Given the description of an element on the screen output the (x, y) to click on. 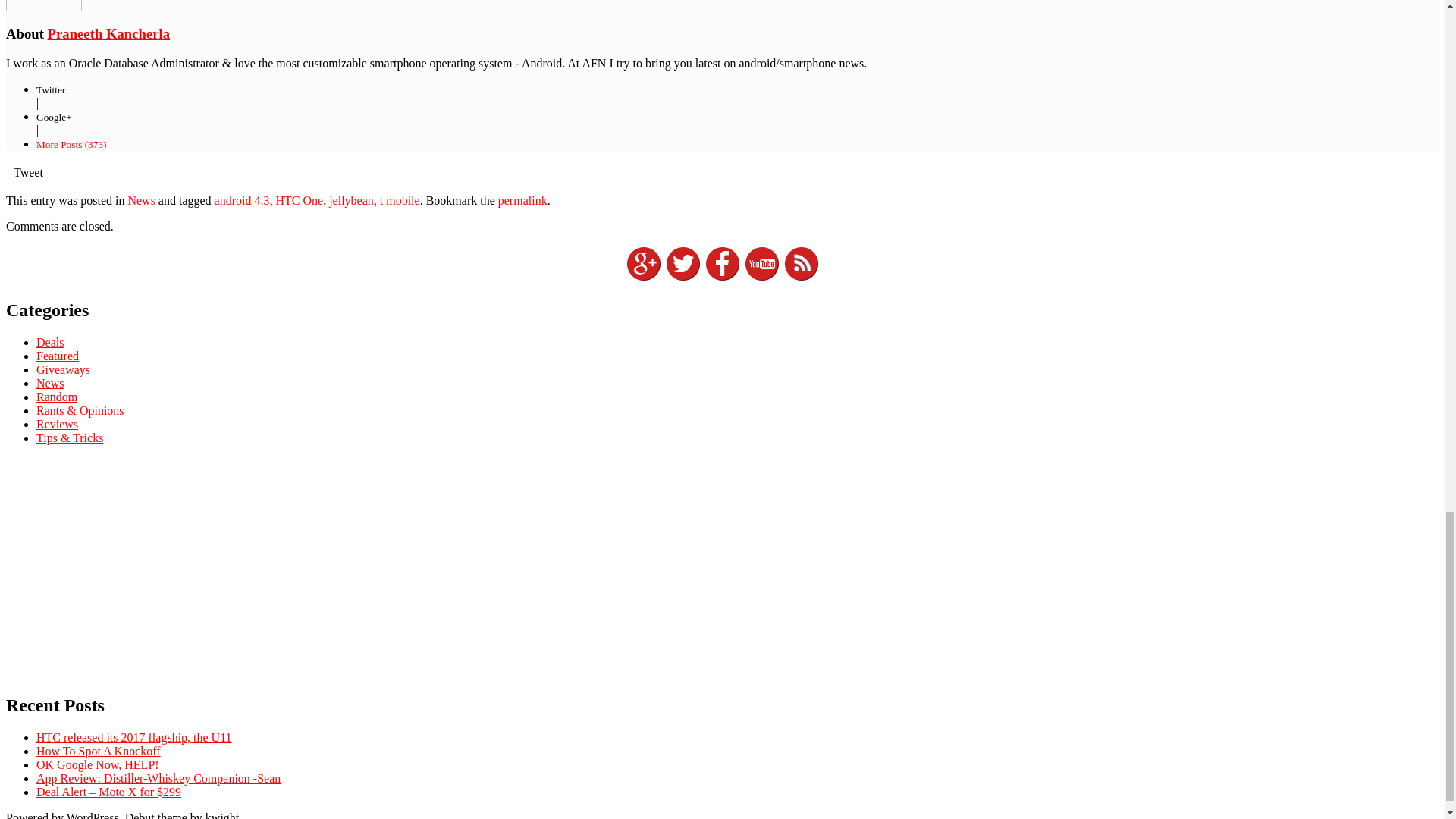
Featured (57, 355)
Deals (50, 341)
android 4.3 (241, 200)
HTC One (299, 200)
Giveaways (63, 369)
Reviews (57, 423)
News (50, 382)
News (141, 200)
